Given the description of an element on the screen output the (x, y) to click on. 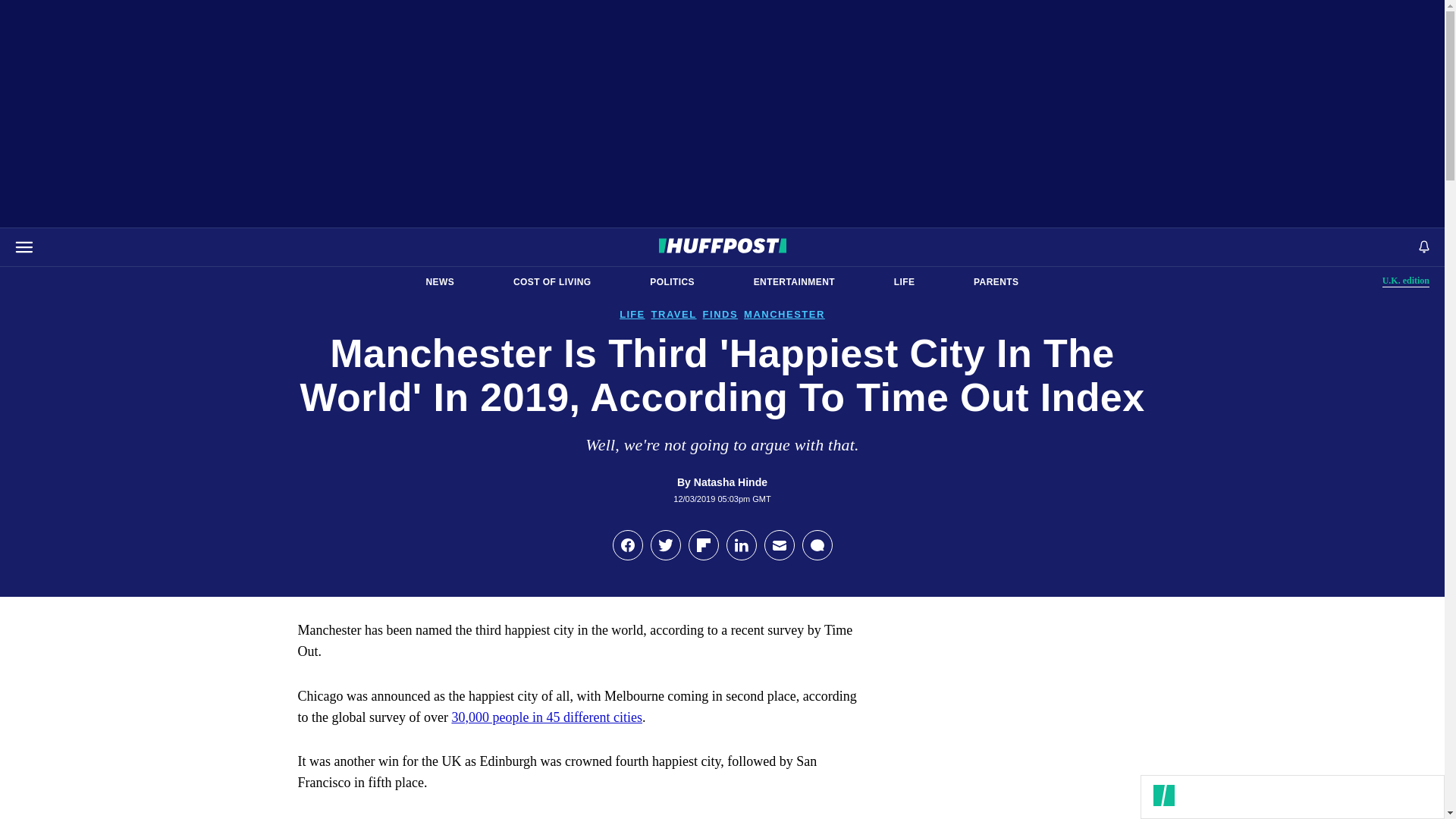
PARENTS (995, 281)
POLITICS (671, 281)
ENTERTAINMENT (1405, 281)
COST OF LIVING (794, 281)
NEWS (552, 281)
LIFE (440, 281)
